Given the description of an element on the screen output the (x, y) to click on. 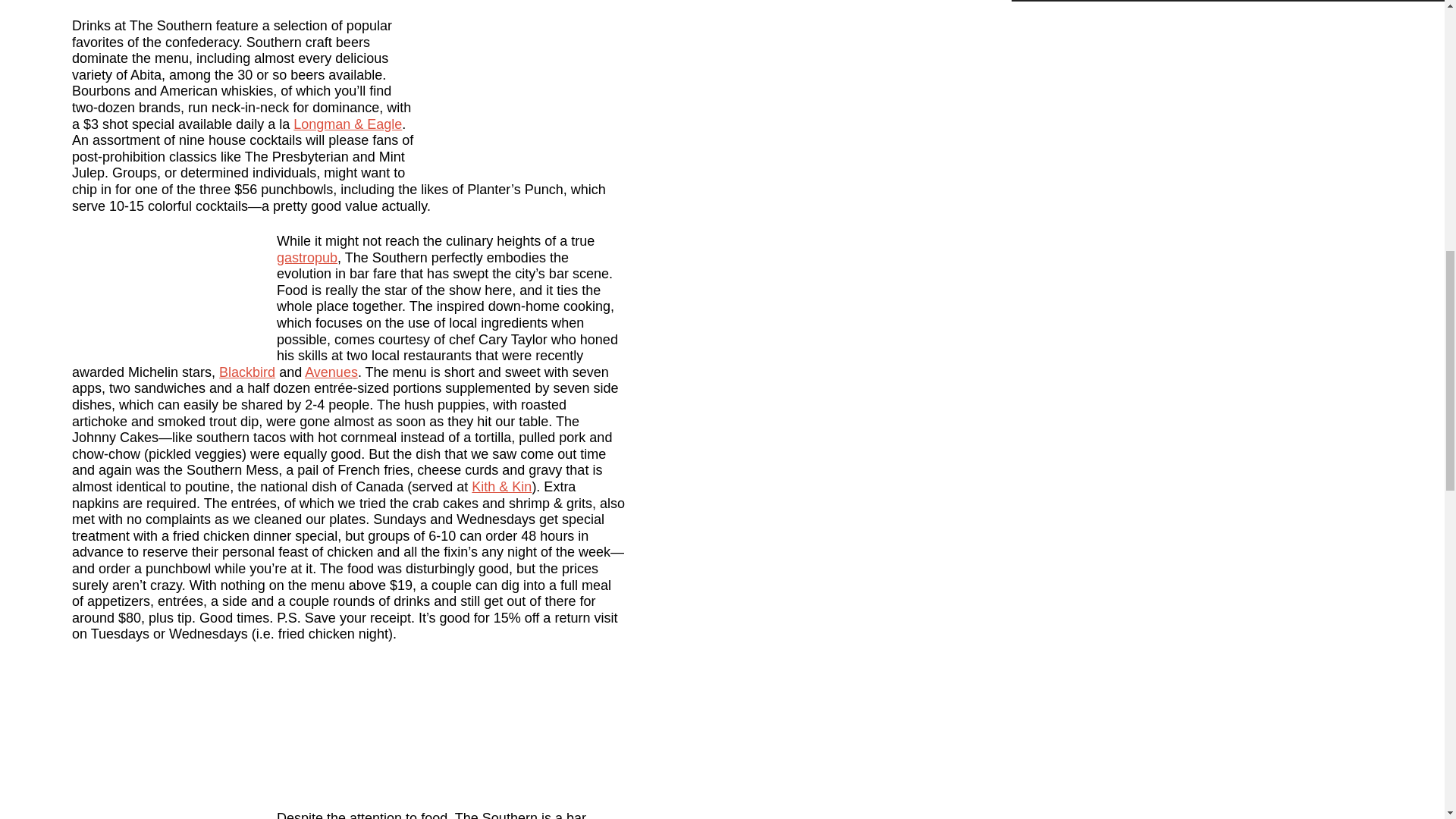
gastropub (306, 257)
Blackbird (247, 372)
Avenues (331, 372)
